Given the description of an element on the screen output the (x, y) to click on. 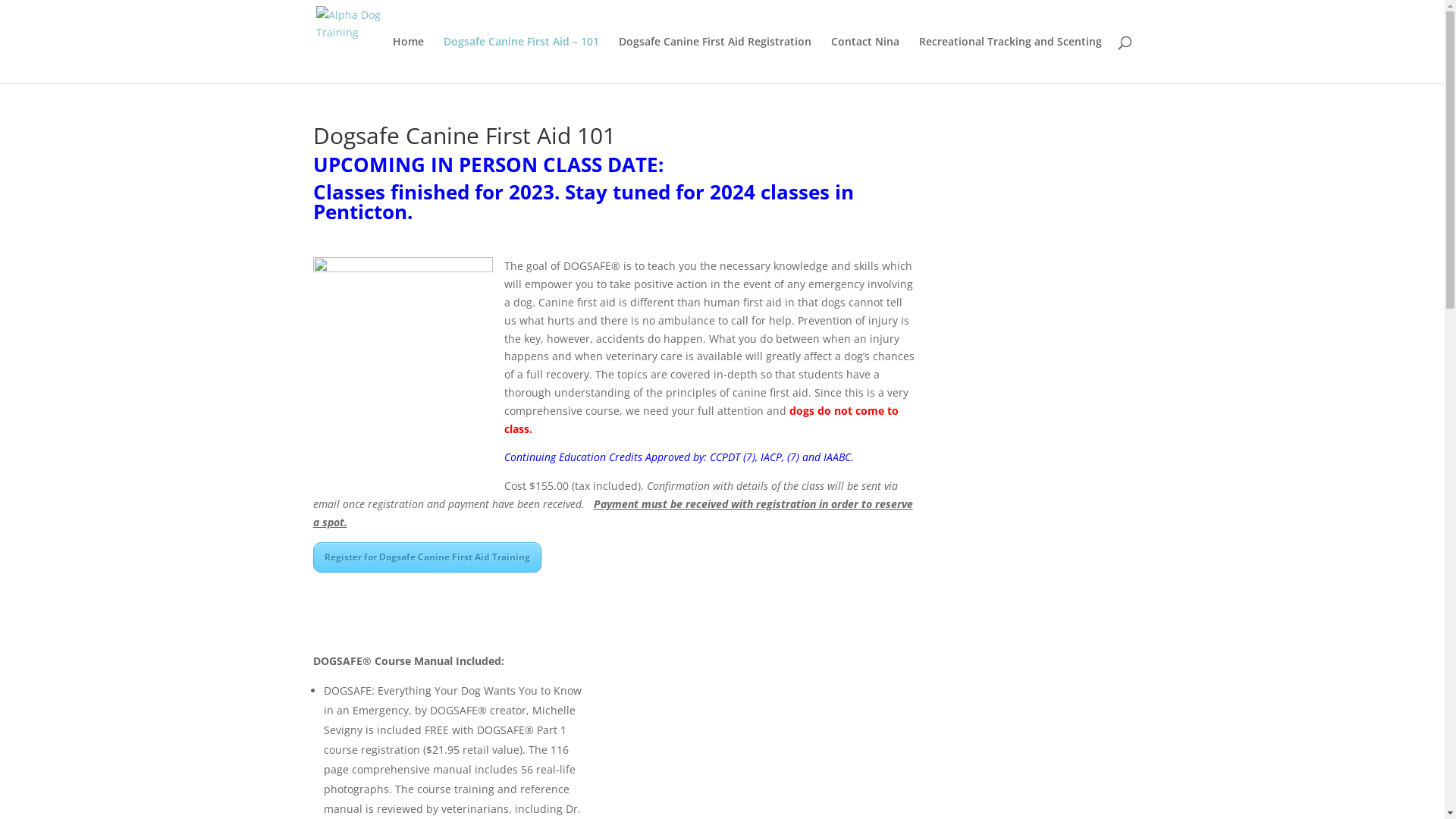
Dogsafe Canine First Aid Registration Element type: text (714, 59)
Recreational Tracking and Scenting Element type: text (1010, 59)
Contact Nina Element type: text (865, 59)
Register for Dogsafe Canine First Aid Training Element type: text (426, 557)
Home Element type: text (407, 59)
